Given the description of an element on the screen output the (x, y) to click on. 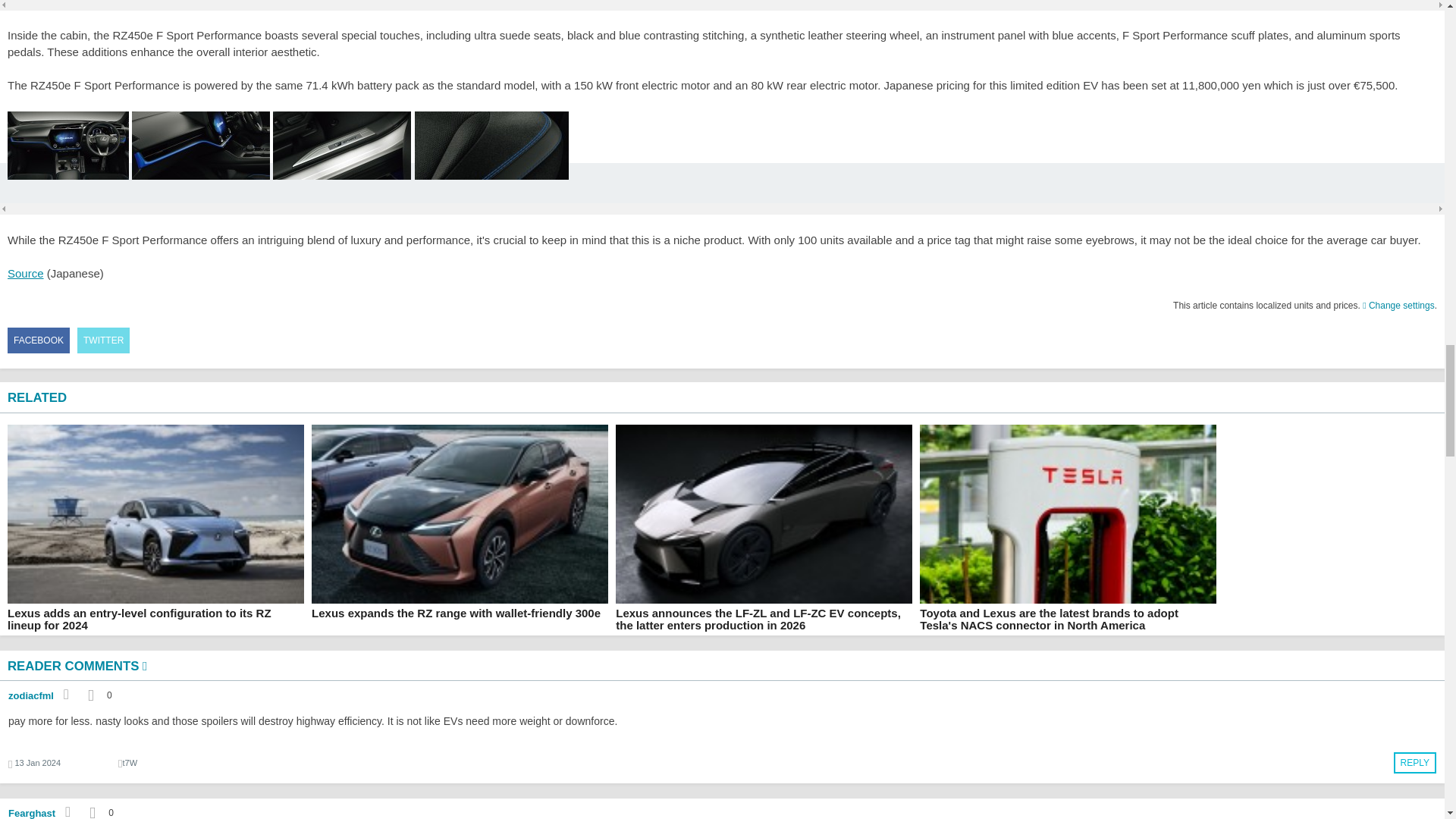
Reply to this post (1414, 762)
Encoded anonymized location (129, 762)
Posts (100, 808)
